Given the description of an element on the screen output the (x, y) to click on. 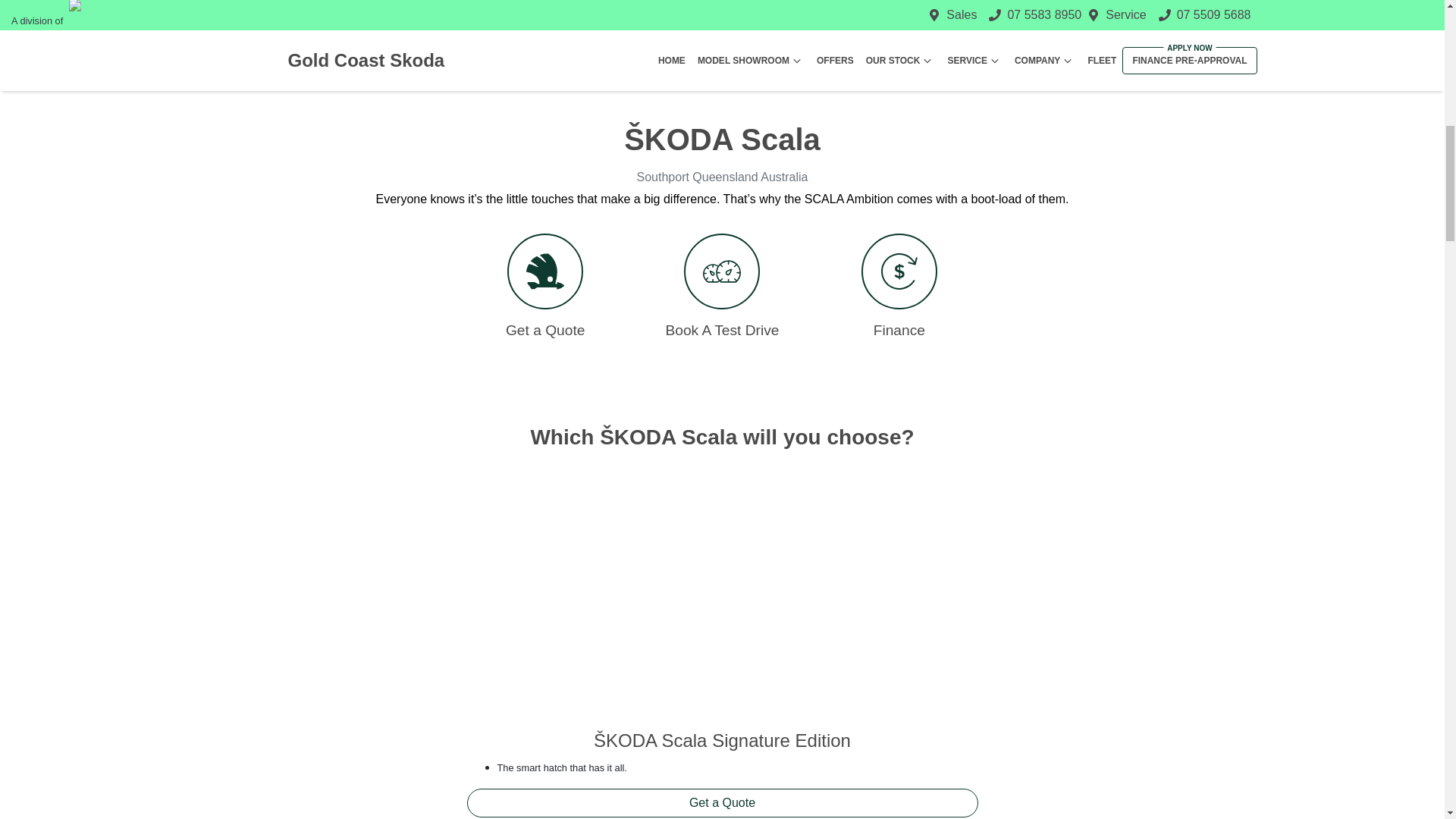
Get a Quote (722, 802)
Get a Quote (545, 286)
Finance (898, 286)
Book A Test Drive (721, 286)
